Given the description of an element on the screen output the (x, y) to click on. 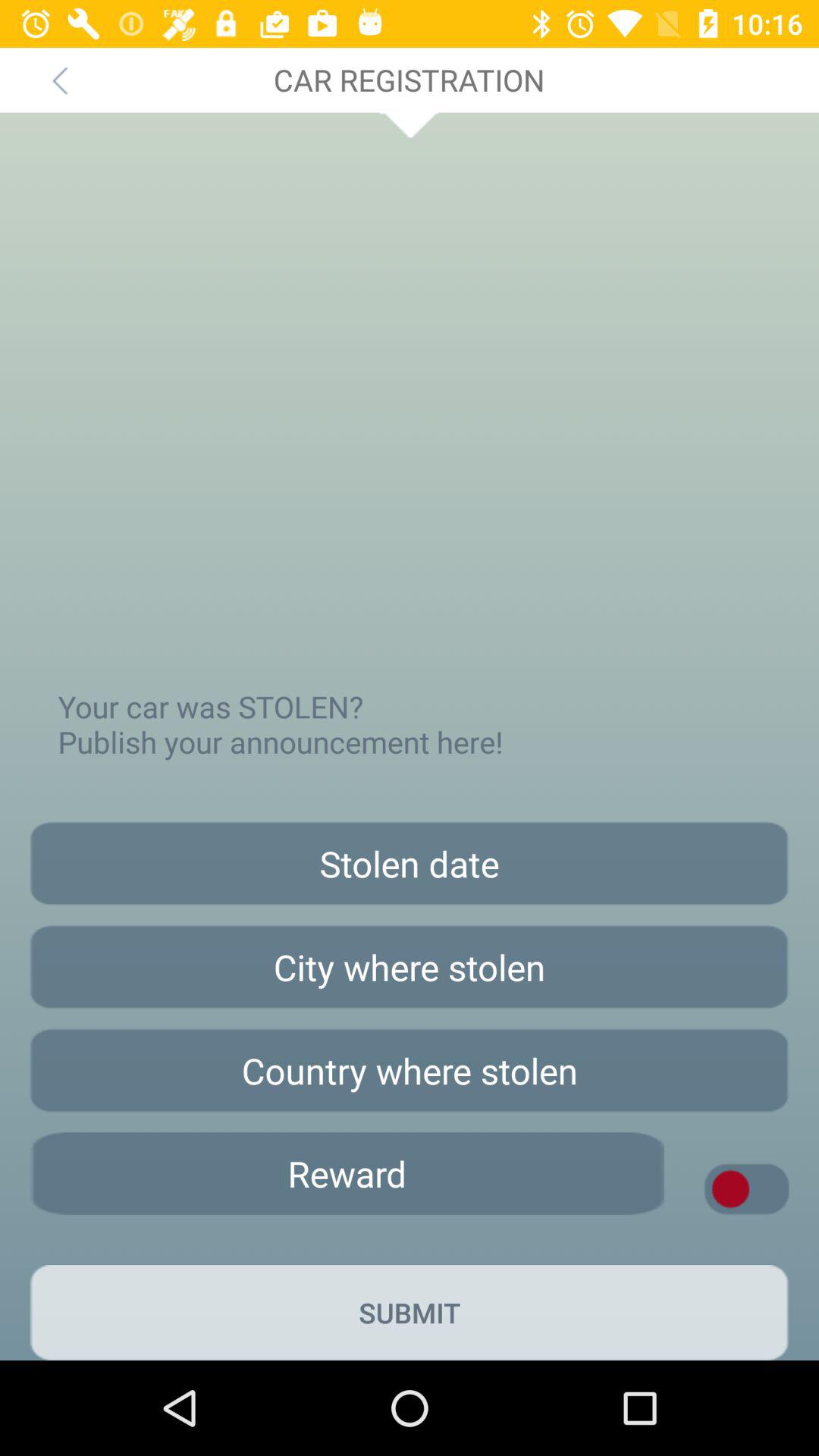
launch the item to the left of the car registration icon (59, 79)
